Given the description of an element on the screen output the (x, y) to click on. 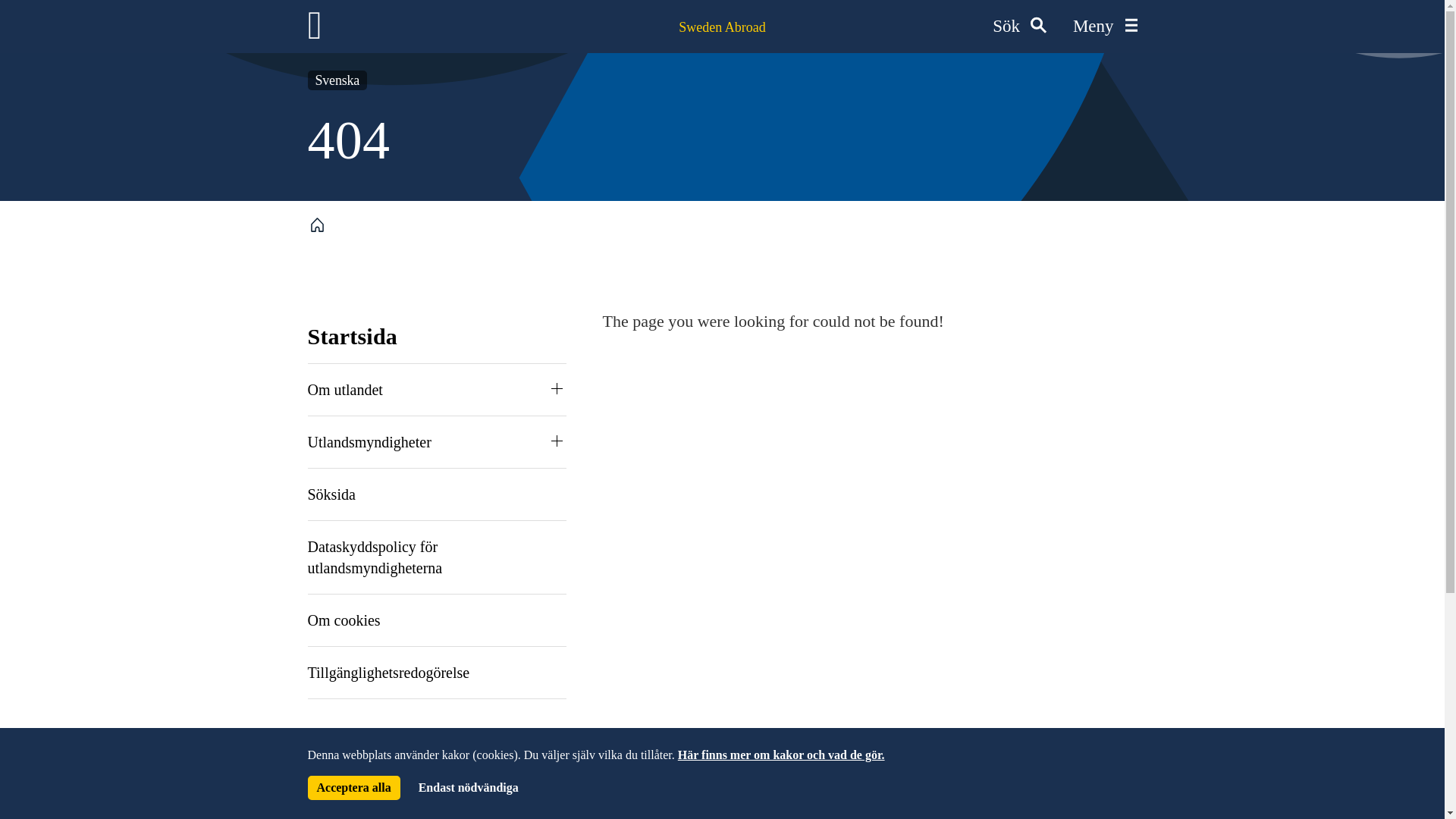
Meny (1105, 26)
Acceptera alla (353, 787)
Om utlandet (344, 389)
Startsida (352, 335)
Sweden Abroad (721, 27)
